Given the description of an element on the screen output the (x, y) to click on. 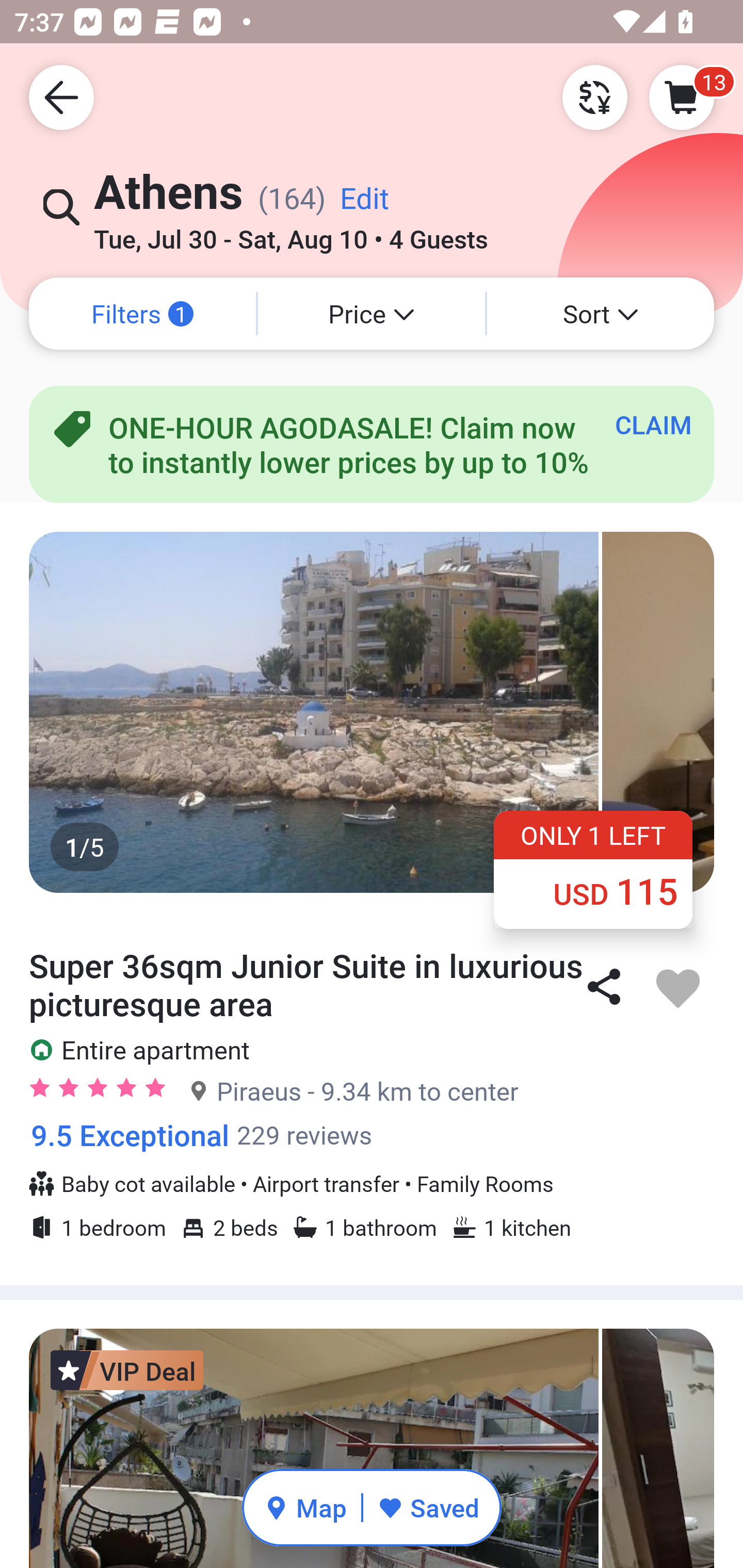
Filters 1 (141, 313)
Price (371, 313)
Sort (600, 313)
CLAIM (653, 424)
1/5 (371, 711)
ONLY 1 LEFT ‪USD 115 (593, 869)
VIP Deal (126, 1370)
Map (305, 1507)
Saved (428, 1507)
